Given the description of an element on the screen output the (x, y) to click on. 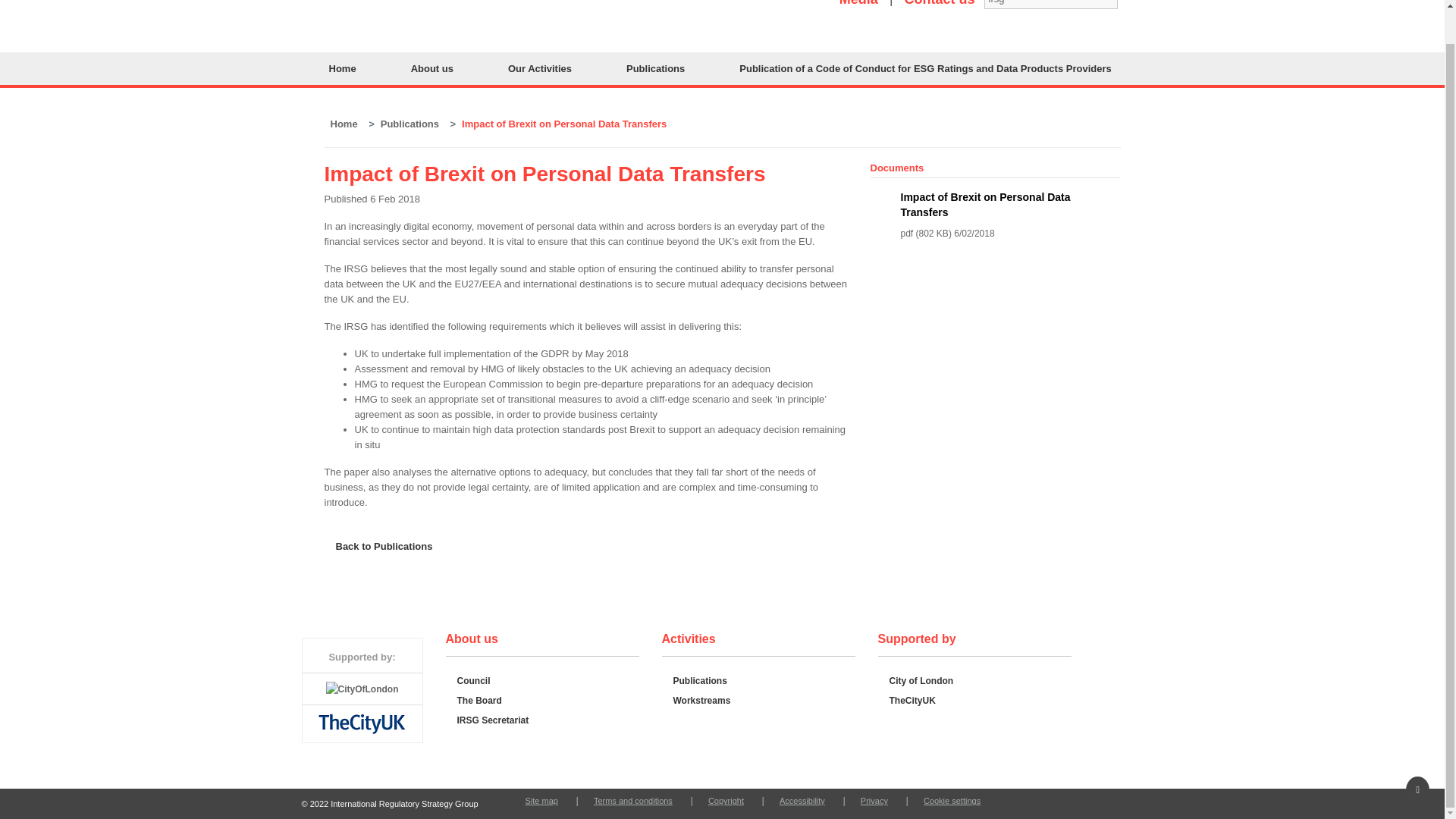
About us (432, 68)
Accessibility (802, 800)
Contact us (939, 3)
Workstreams (701, 700)
Go (1130, 4)
The Board (478, 700)
Go (1130, 4)
Cookie settings (951, 800)
Privacy (873, 800)
